Given the description of an element on the screen output the (x, y) to click on. 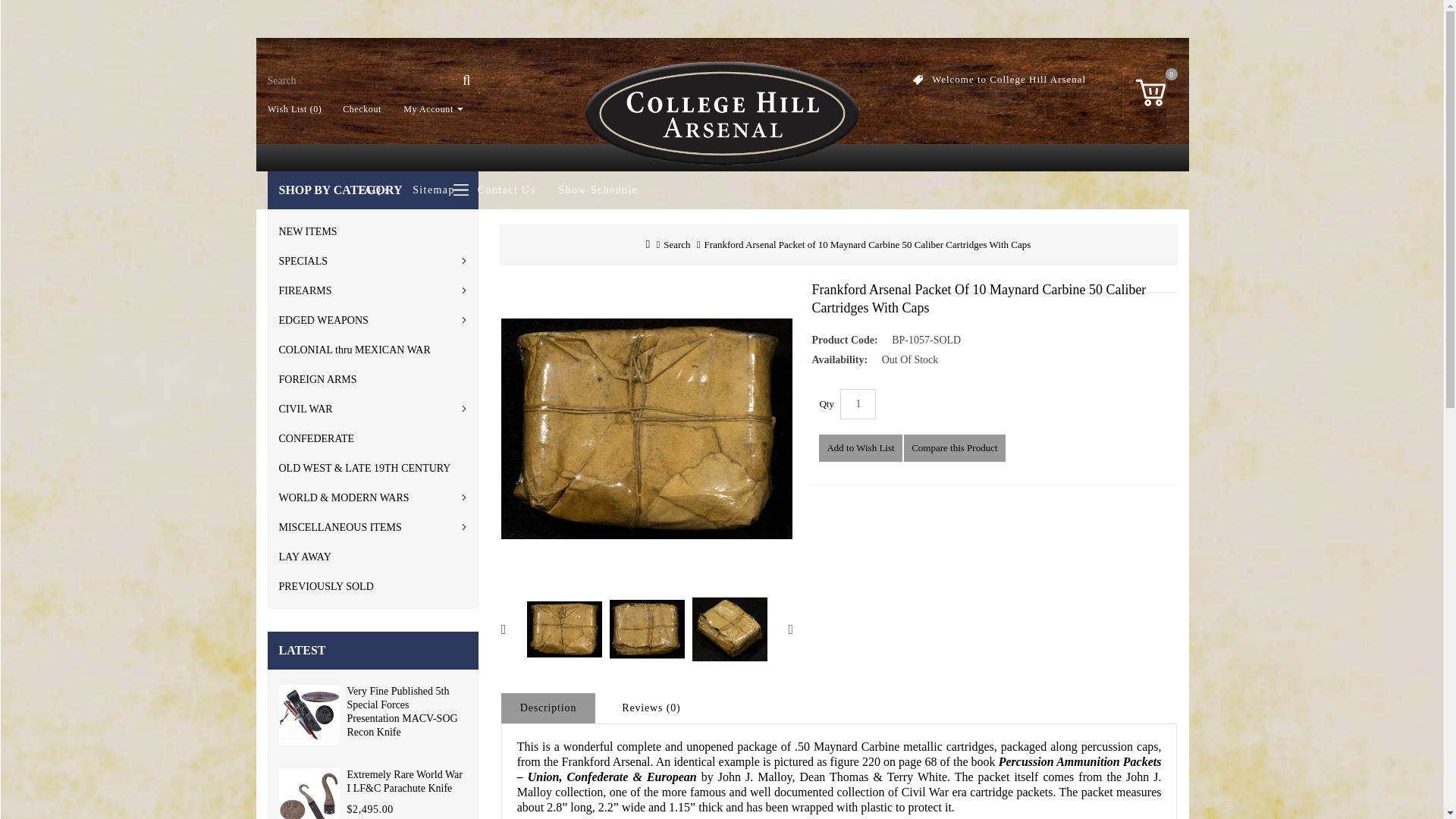
My Account (428, 109)
College Hill Arsenal (721, 113)
Checkout (356, 109)
0 (1150, 89)
1 (858, 404)
Checkout (356, 109)
SEARCH (466, 86)
My Account (428, 109)
